Given the description of an element on the screen output the (x, y) to click on. 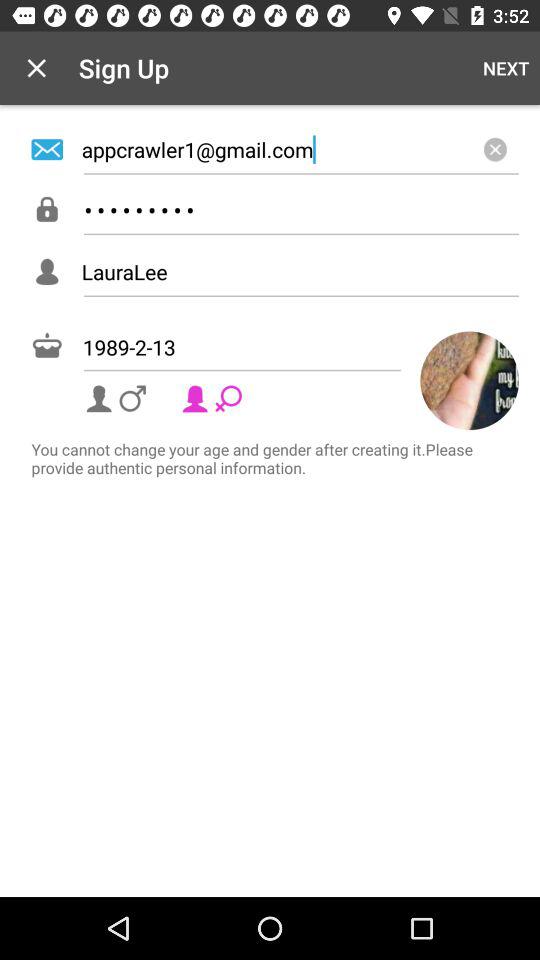
choose item on the right (469, 380)
